Given the description of an element on the screen output the (x, y) to click on. 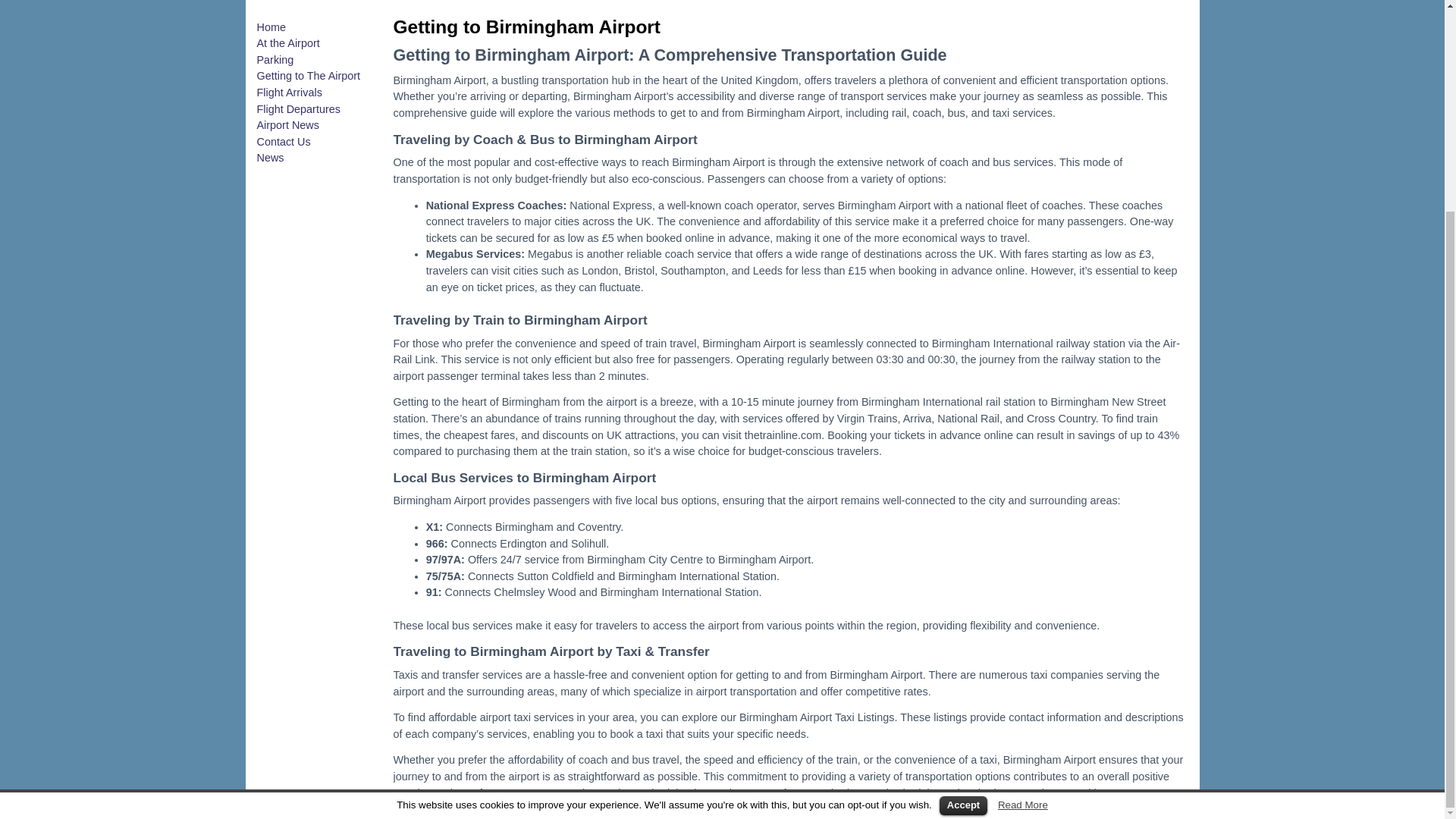
Accept (963, 530)
News (269, 157)
Read More (1022, 530)
Flight Departures (297, 109)
Flight Arrivals (288, 92)
Getting to Birmingham Airport (527, 26)
At the Airport (287, 42)
Parking (275, 60)
Home (270, 27)
Airport News (287, 124)
Contact Us (283, 141)
Getting to The Airport (307, 75)
Permalink to Getting to Birmingham Airport (527, 26)
